Given the description of an element on the screen output the (x, y) to click on. 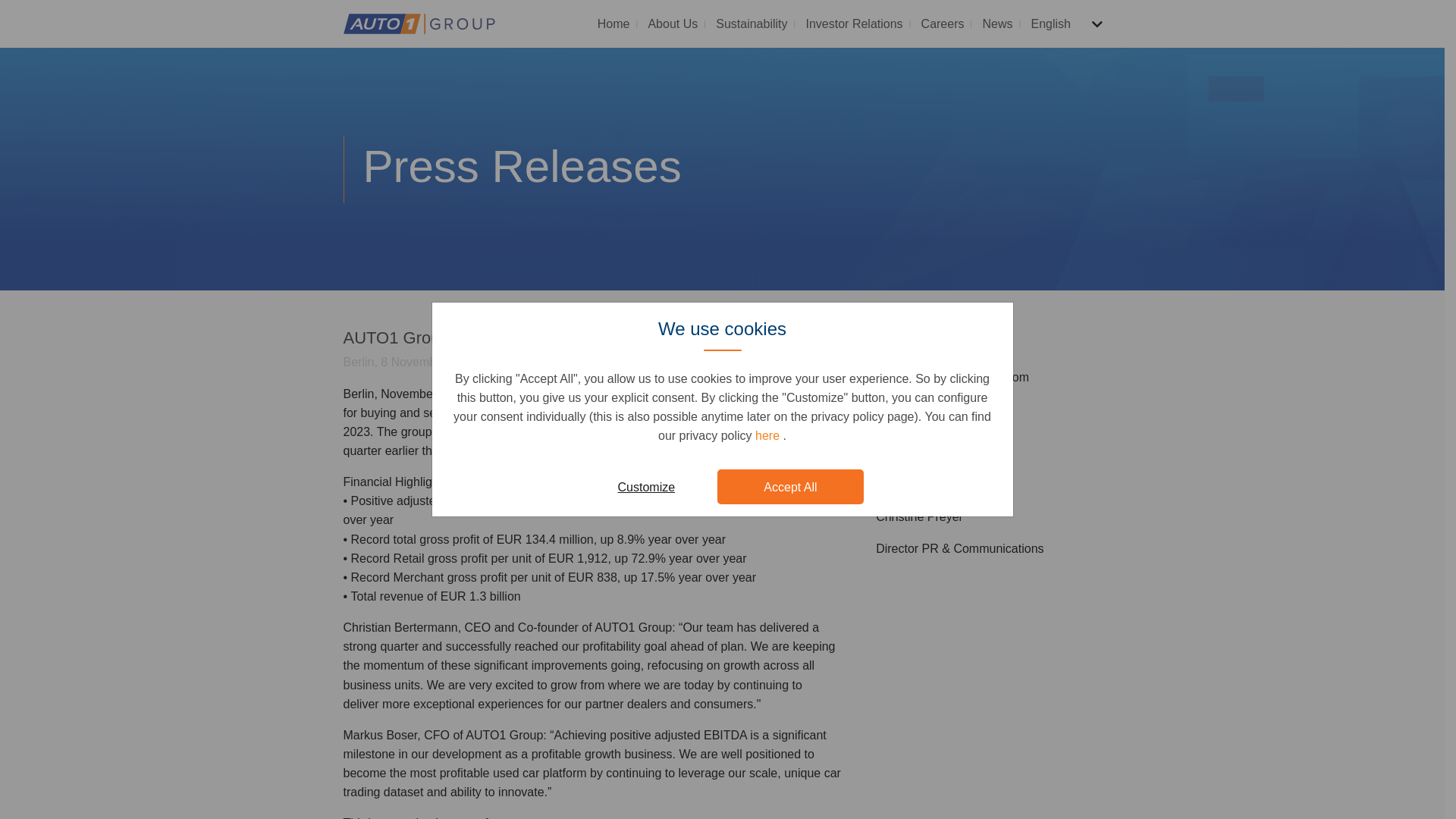
About Us (672, 27)
Sustainability (751, 27)
Investor Relations (854, 27)
Home (613, 27)
